Given the description of an element on the screen output the (x, y) to click on. 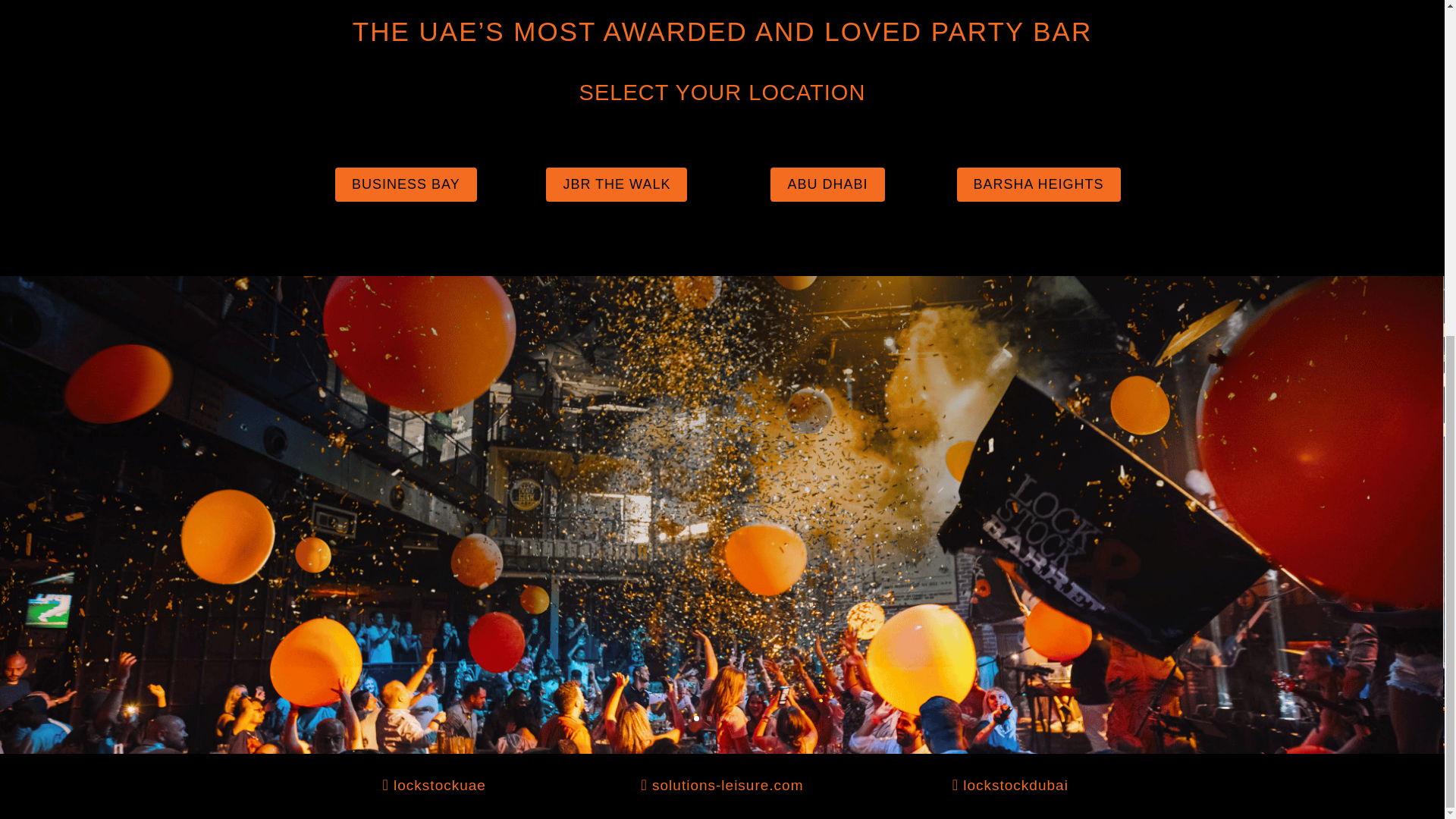
BUSINESS BAY (405, 184)
4 (735, 718)
5 (748, 718)
ABU DHABI (826, 184)
JBR THE WALK (616, 184)
BARSHA HEIGHTS (1038, 184)
2 (708, 718)
3 (722, 718)
